Given the description of an element on the screen output the (x, y) to click on. 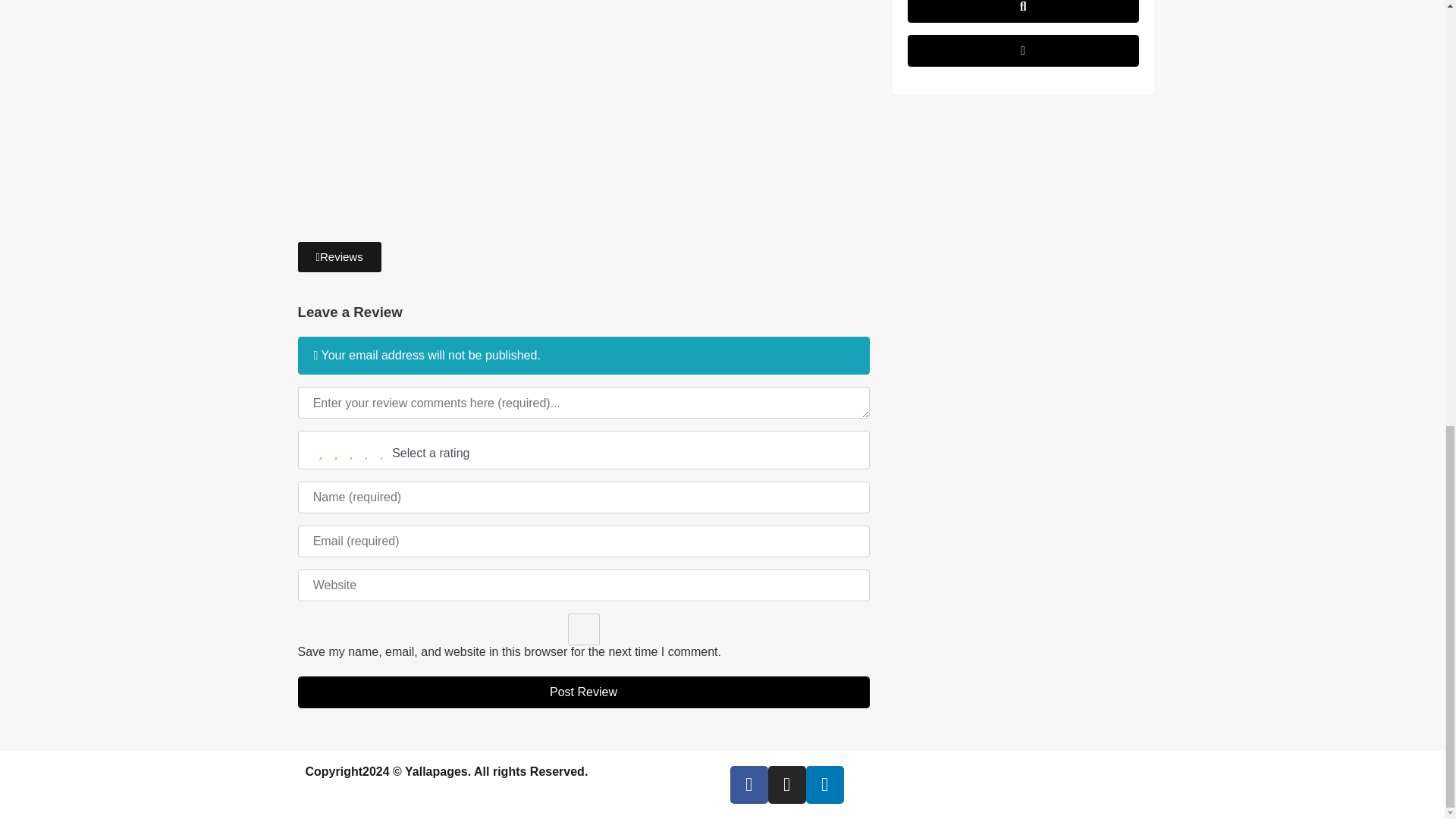
Terrible (321, 453)
Excellent (381, 453)
Average (350, 453)
Very Good (366, 453)
Post Review (583, 692)
Poor (336, 453)
Reviews (338, 256)
yes (583, 629)
Search (1022, 11)
Post Review (583, 692)
Advanced Filters (1022, 50)
